Given the description of an element on the screen output the (x, y) to click on. 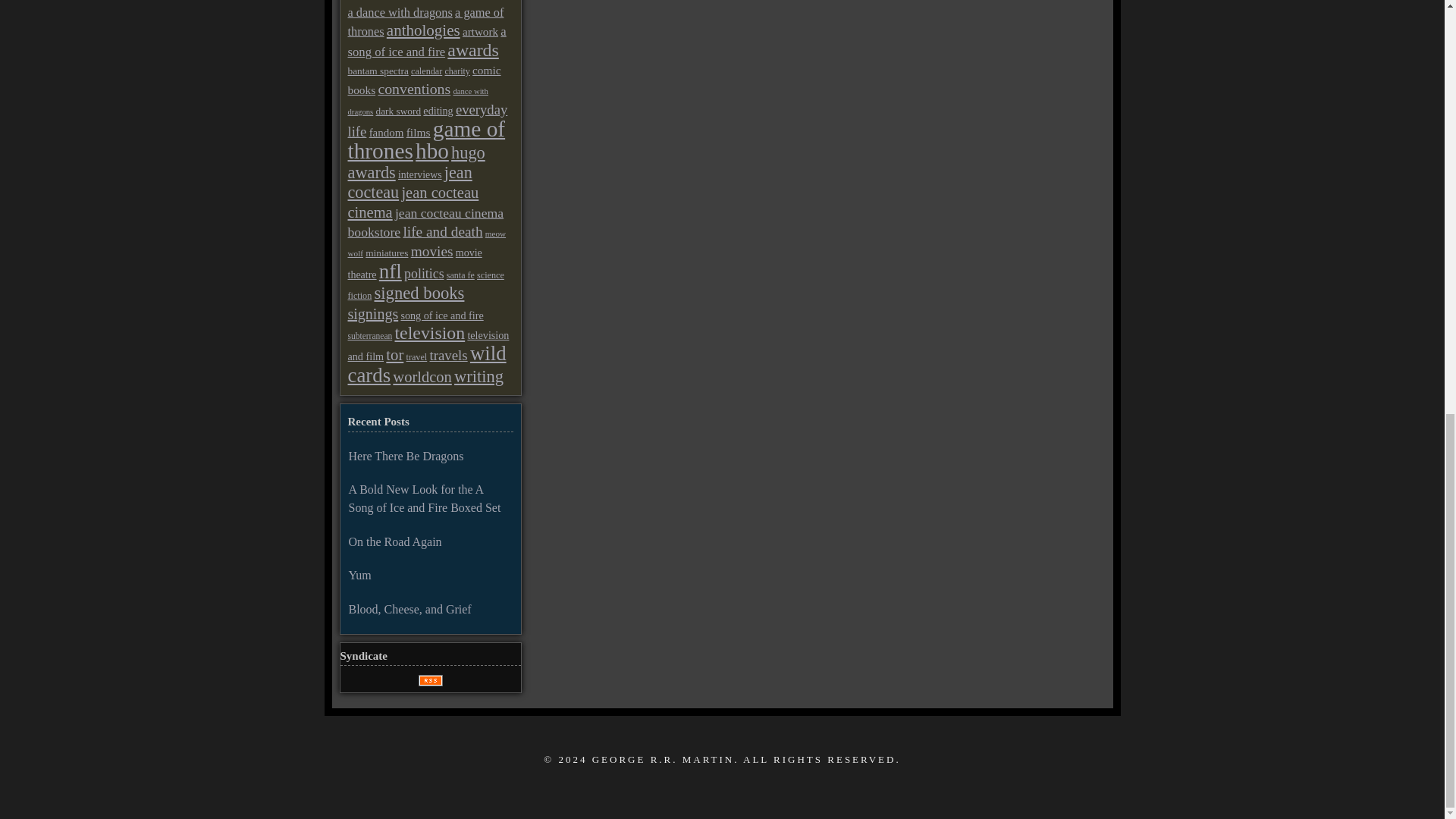
a song of ice and fire (426, 41)
awards (471, 49)
a game of thrones (425, 21)
charity (456, 71)
comic books (423, 79)
anthologies (423, 30)
bantam spectra (377, 70)
a dance with dragons (399, 11)
calendar (426, 71)
artwork (480, 31)
